Given the description of an element on the screen output the (x, y) to click on. 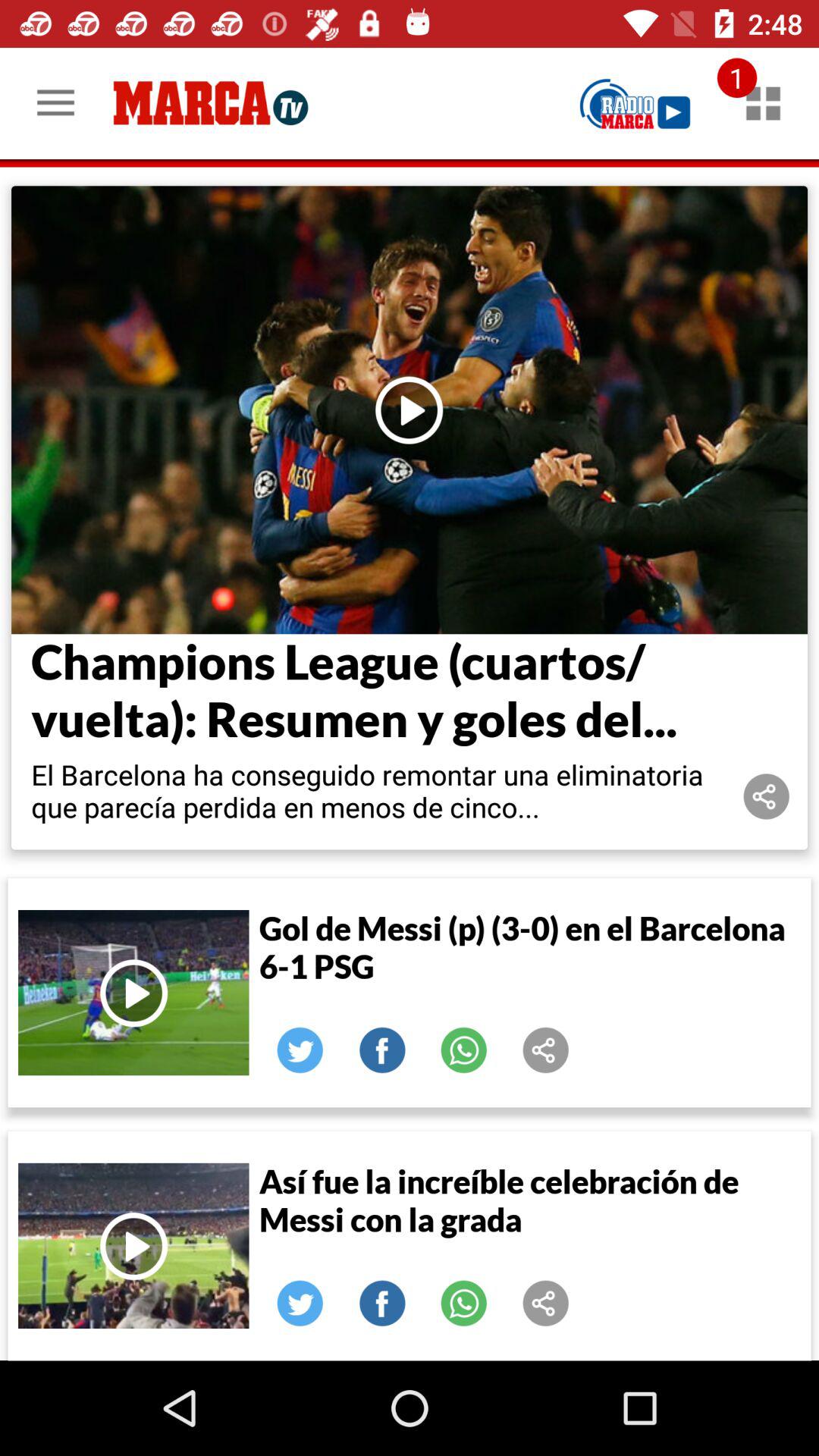
view notifications (763, 103)
